Given the description of an element on the screen output the (x, y) to click on. 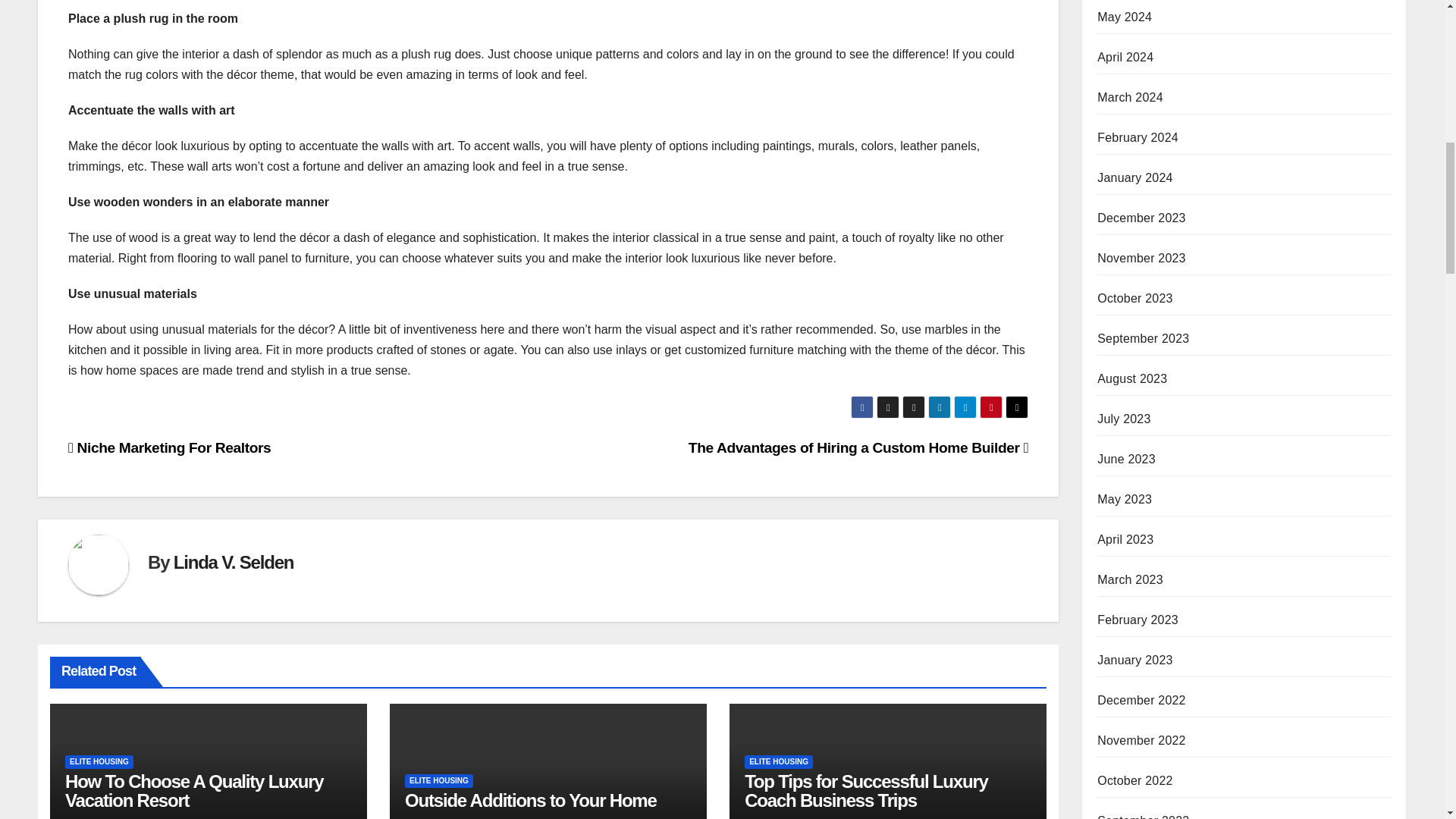
Linda V. Selden (233, 562)
Niche Marketing For Realtors (169, 447)
The Advantages of Hiring a Custom Home Builder (857, 447)
